Given the description of an element on the screen output the (x, y) to click on. 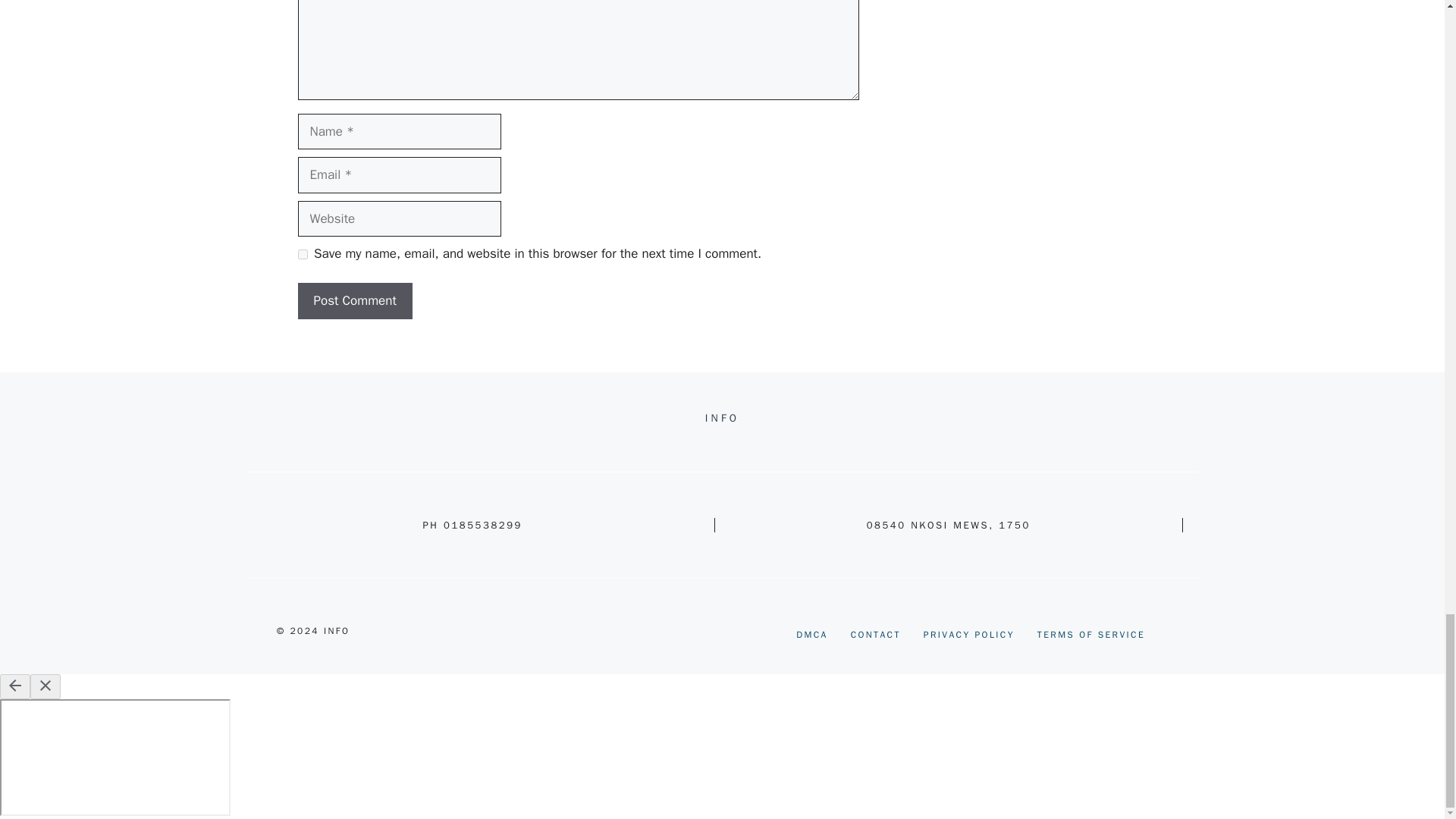
Post Comment (354, 300)
yes (302, 254)
Post Comment (354, 300)
